Given the description of an element on the screen output the (x, y) to click on. 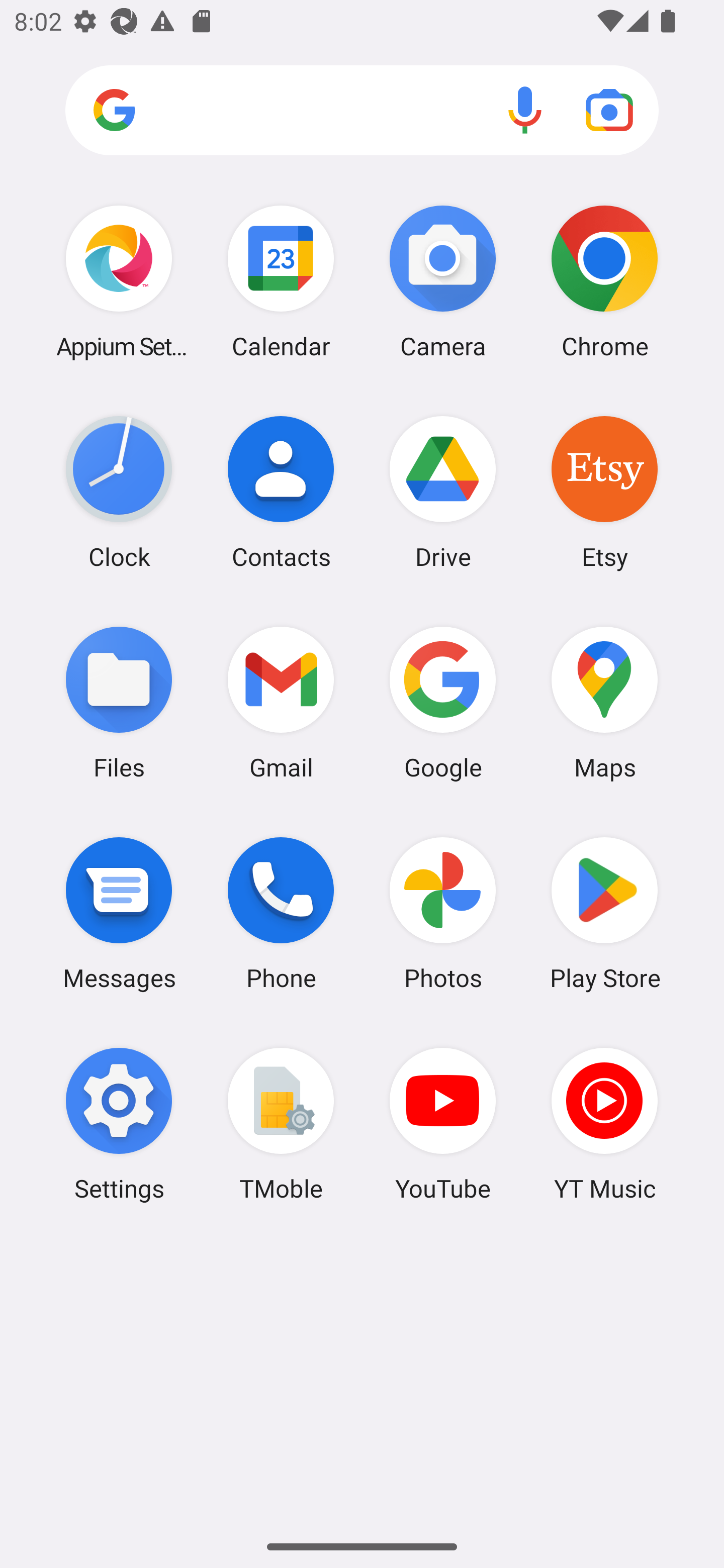
Search apps, web and more (361, 110)
Voice search (524, 109)
Google Lens (608, 109)
Appium Settings (118, 281)
Calendar (280, 281)
Camera (443, 281)
Chrome (604, 281)
Clock (118, 492)
Contacts (280, 492)
Drive (443, 492)
Etsy (604, 492)
Files (118, 702)
Gmail (280, 702)
Google (443, 702)
Maps (604, 702)
Messages (118, 913)
Phone (280, 913)
Photos (443, 913)
Play Store (604, 913)
Settings (118, 1124)
TMoble (280, 1124)
YouTube (443, 1124)
YT Music (604, 1124)
